Given the description of an element on the screen output the (x, y) to click on. 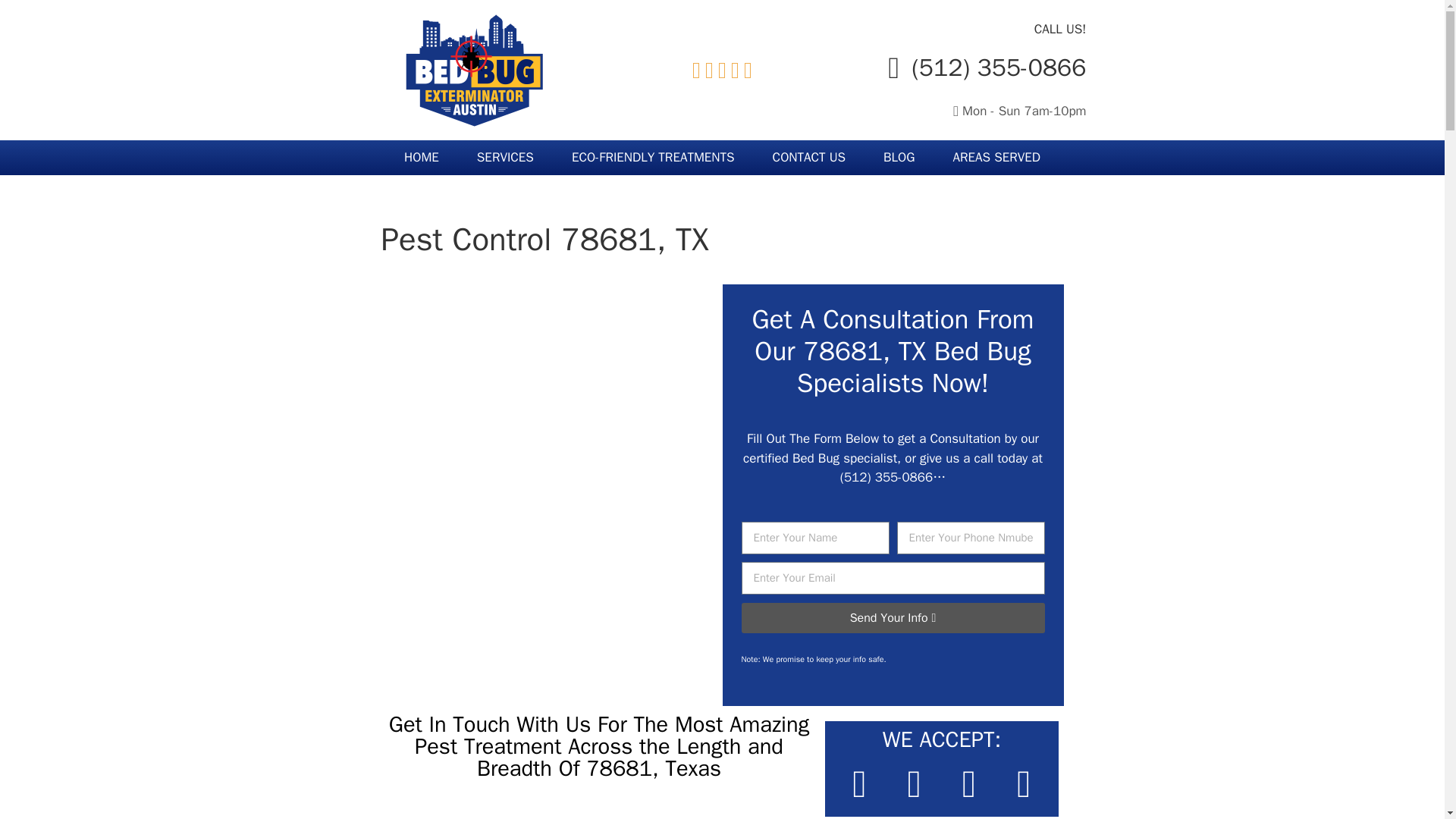
ECO-FRIENDLY TREATMENTS (653, 157)
HOME (421, 157)
CONTACT US (809, 157)
SERVICES (505, 157)
AREAS SERVED (996, 157)
BLOG (898, 157)
